Given the description of an element on the screen output the (x, y) to click on. 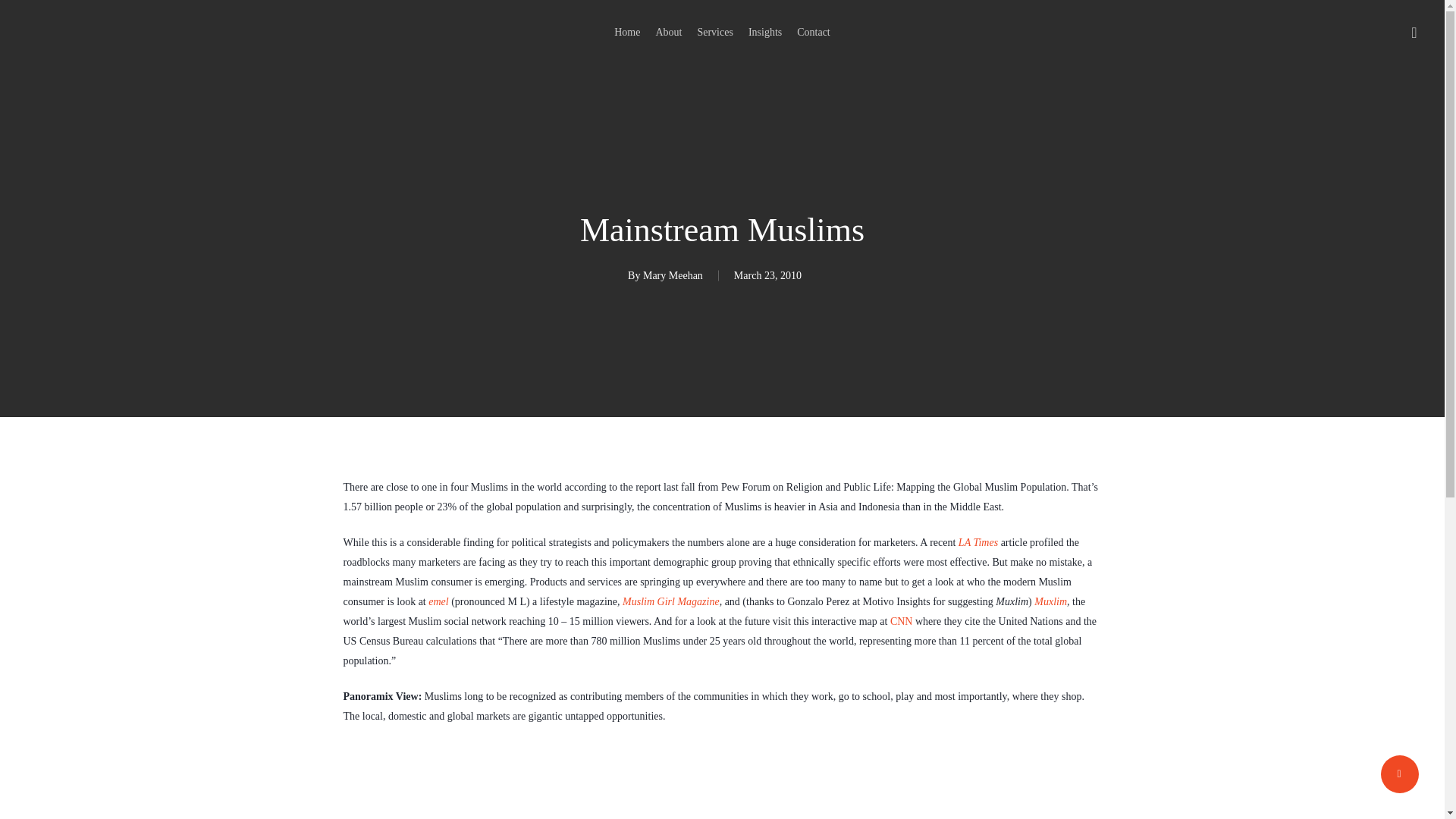
Insights (765, 32)
Contact (813, 32)
Muslim Girl Magazine (671, 601)
LA Times (977, 542)
emel (438, 601)
About (667, 32)
Home (627, 32)
Mary Meehan (673, 275)
CNN (900, 621)
search (1414, 32)
